Given the description of an element on the screen output the (x, y) to click on. 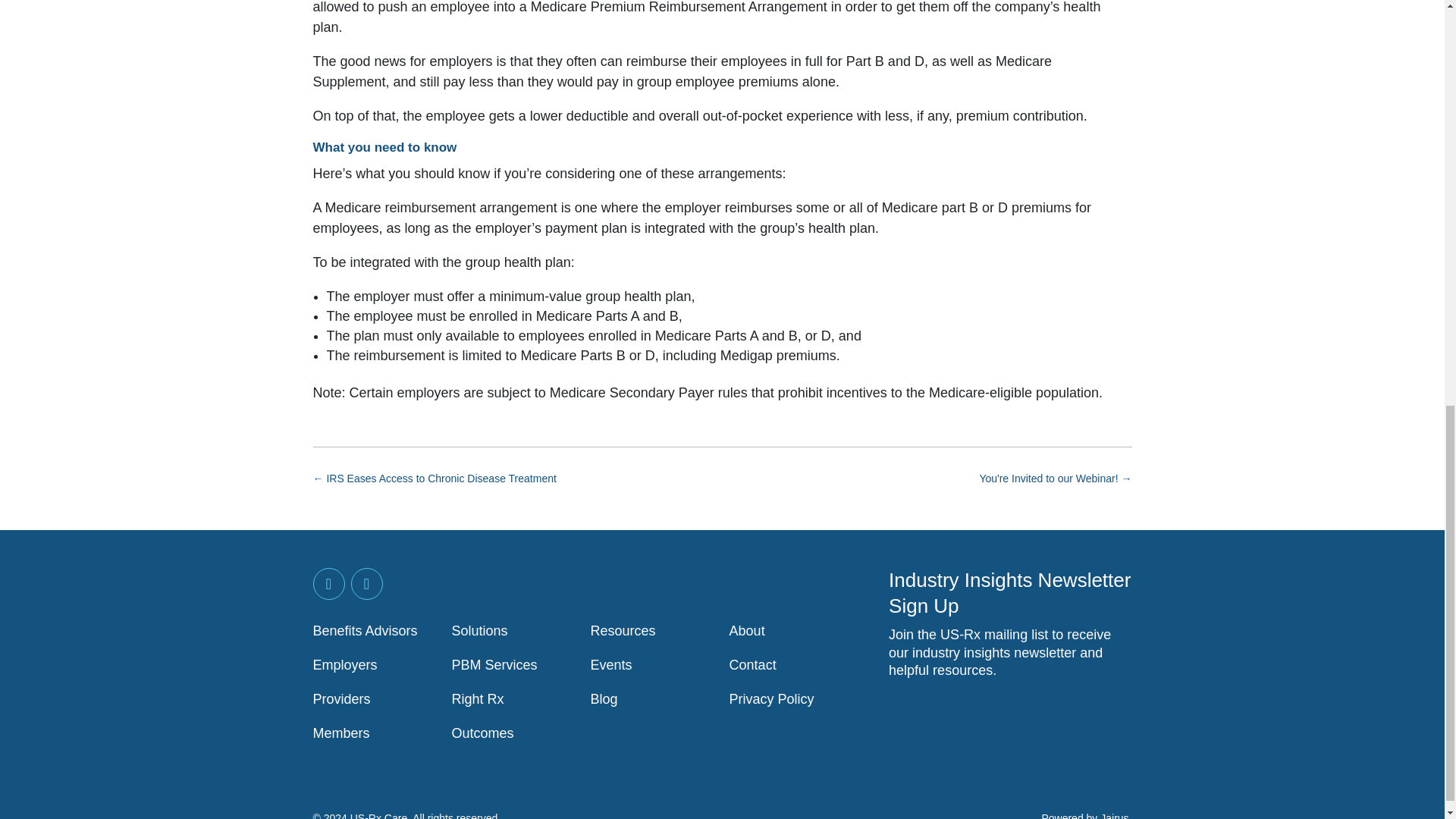
Resources (623, 630)
Contact (752, 664)
Right Rx (477, 698)
Solutions (479, 630)
Employers (345, 664)
Outcomes (482, 733)
Providers (341, 698)
Follow on Facebook (365, 583)
Events (611, 664)
Benefits Advisors (364, 630)
